Given the description of an element on the screen output the (x, y) to click on. 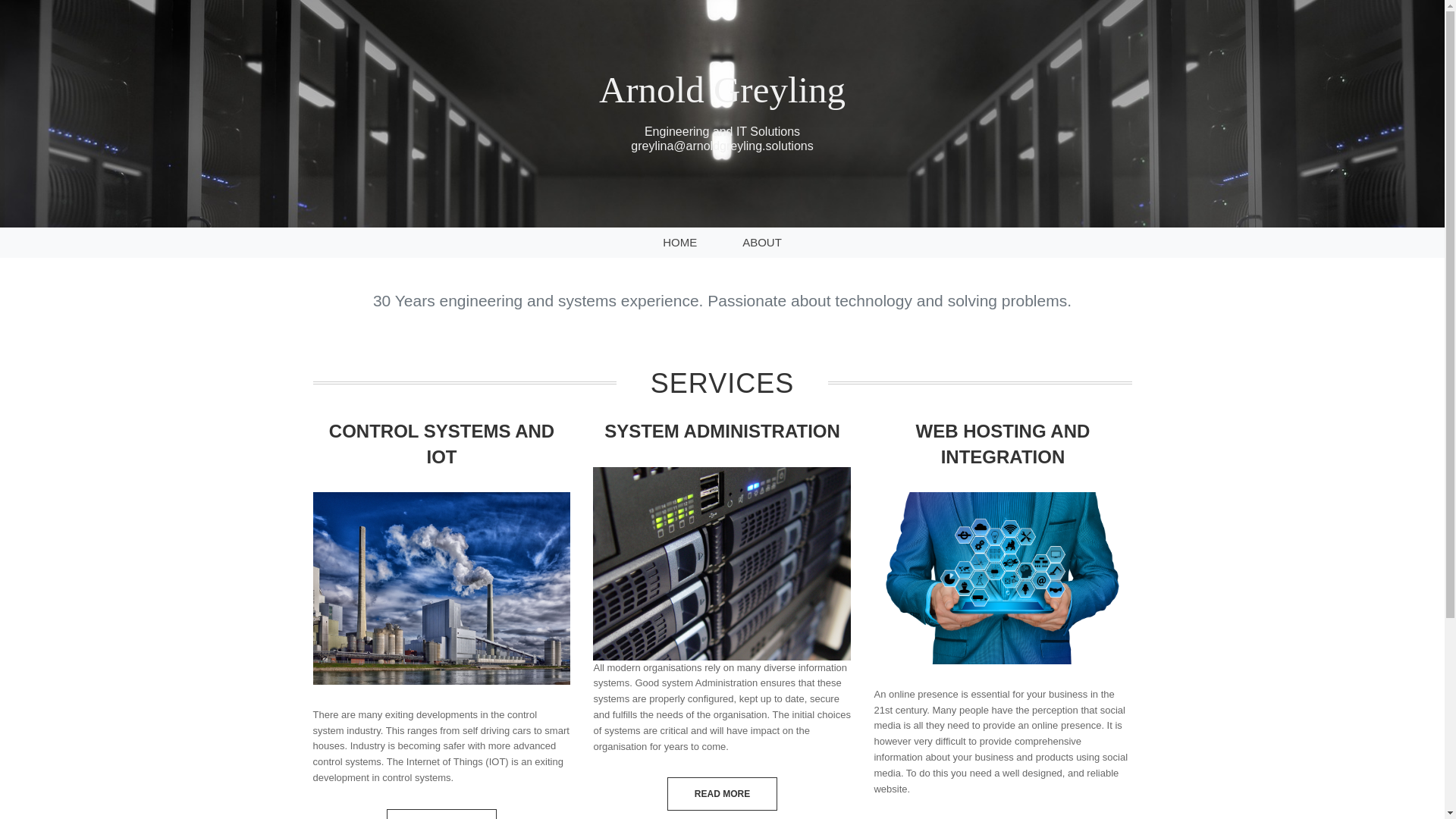
HOME (679, 241)
ABOUT (762, 241)
READ MORE (721, 793)
READ MORE (441, 814)
